Given the description of an element on the screen output the (x, y) to click on. 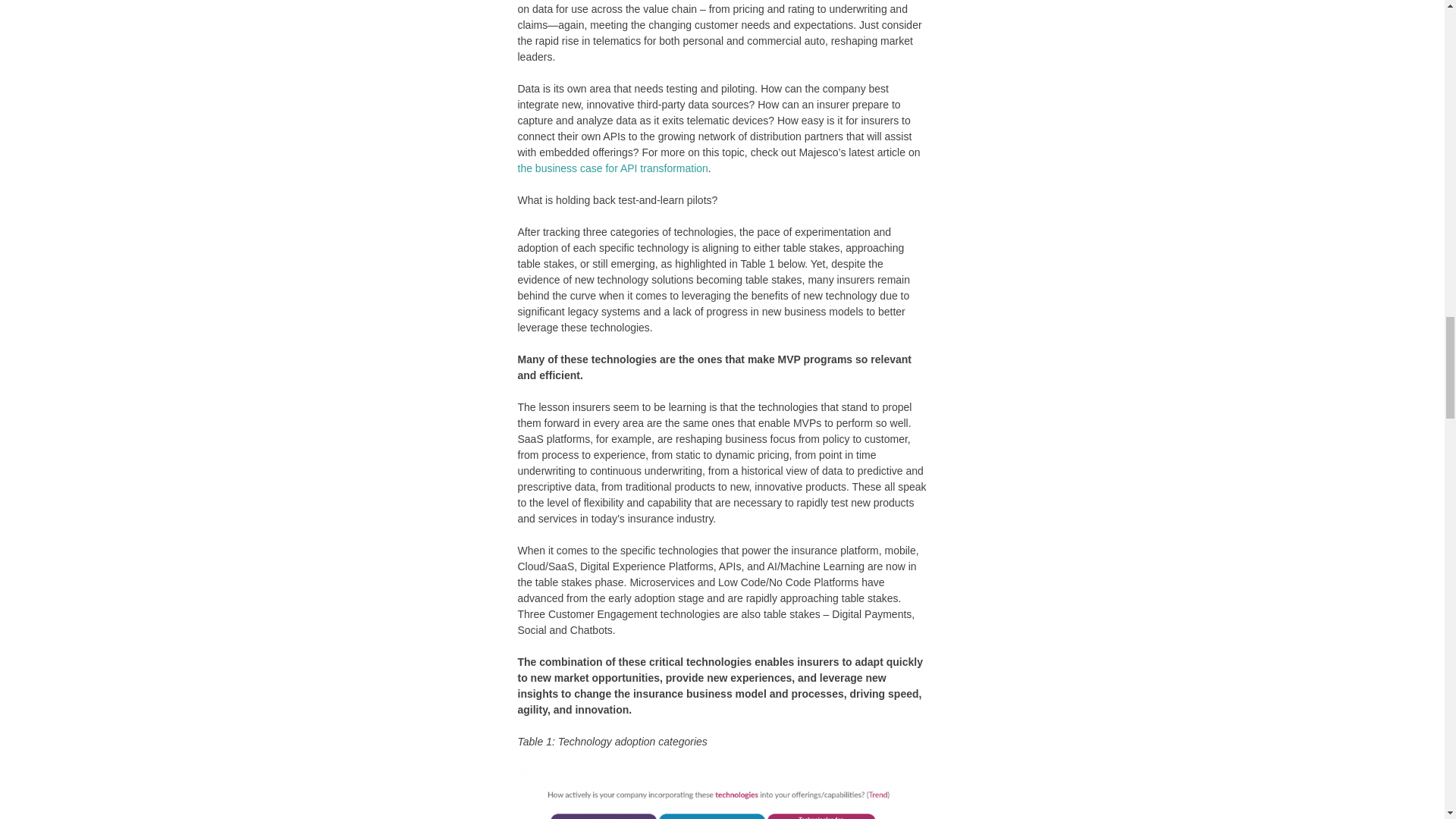
the business case for API transformation (611, 168)
